Given the description of an element on the screen output the (x, y) to click on. 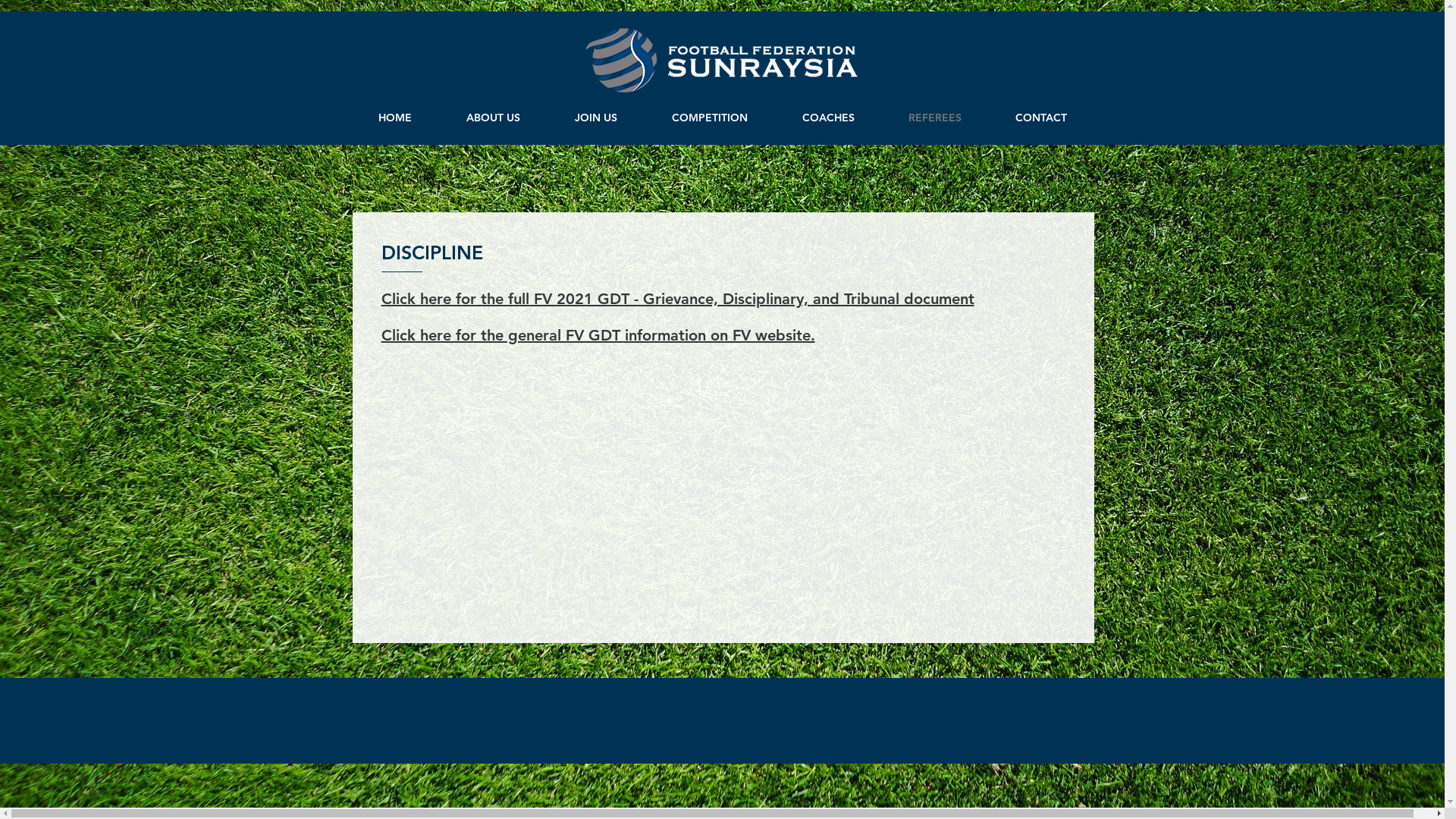
COACHES Element type: text (828, 117)
REFEREES Element type: text (934, 117)
ABOUT US Element type: text (492, 117)
COMPETITION Element type: text (709, 117)
HOME Element type: text (394, 117)
JOIN US Element type: text (595, 117)
Click here for the general FV GDT information on FV website. Element type: text (597, 334)
CONTACT Element type: text (1041, 117)
